Given the description of an element on the screen output the (x, y) to click on. 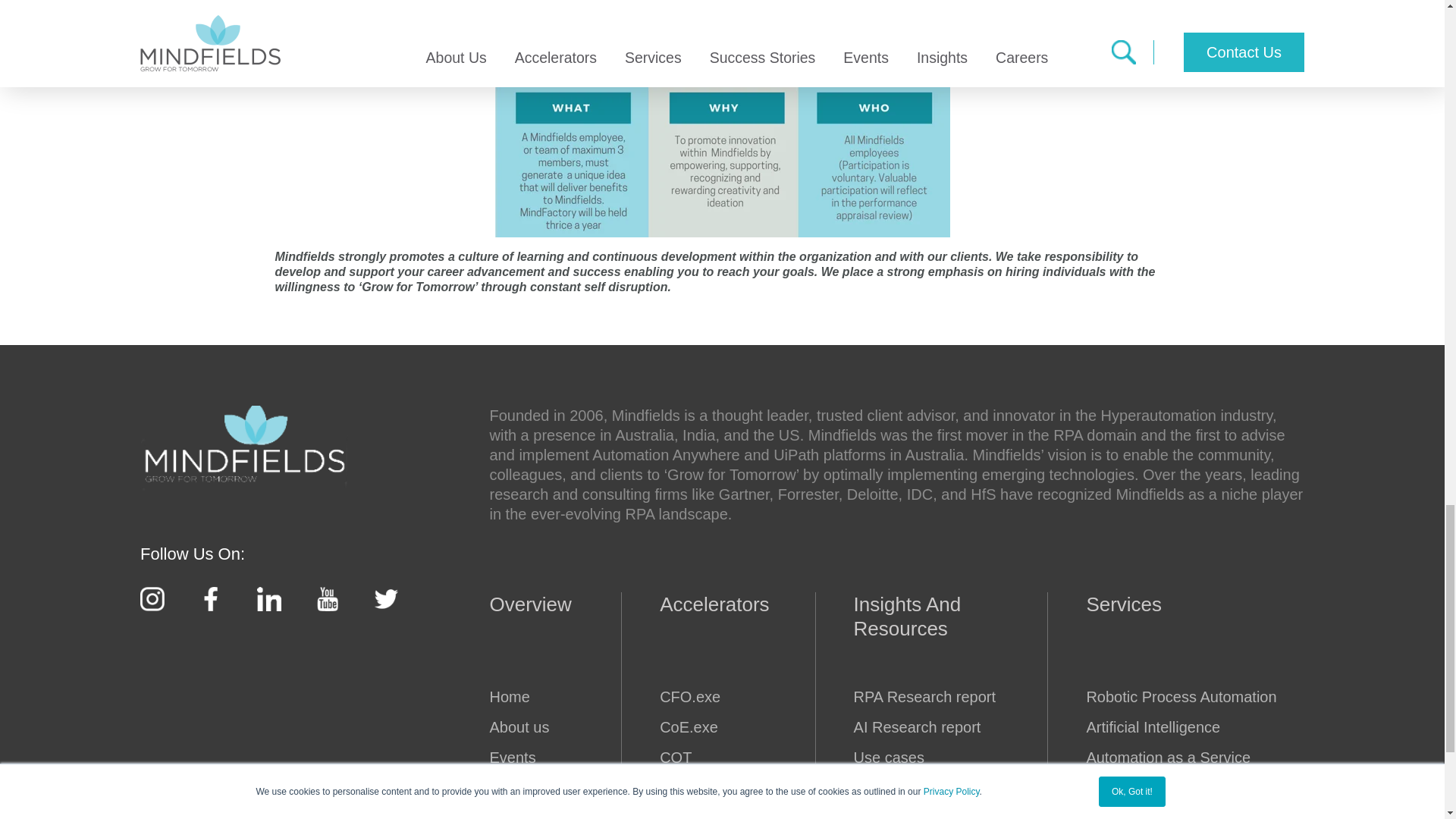
Hyperautomation (526, 697)
Contact Us (526, 811)
Career (526, 788)
About Mindfields (526, 727)
Future of Finance (702, 697)
Code Optimization Tool (702, 757)
Mindfields Events (526, 757)
Centre of Excellence (702, 727)
